Given the description of an element on the screen output the (x, y) to click on. 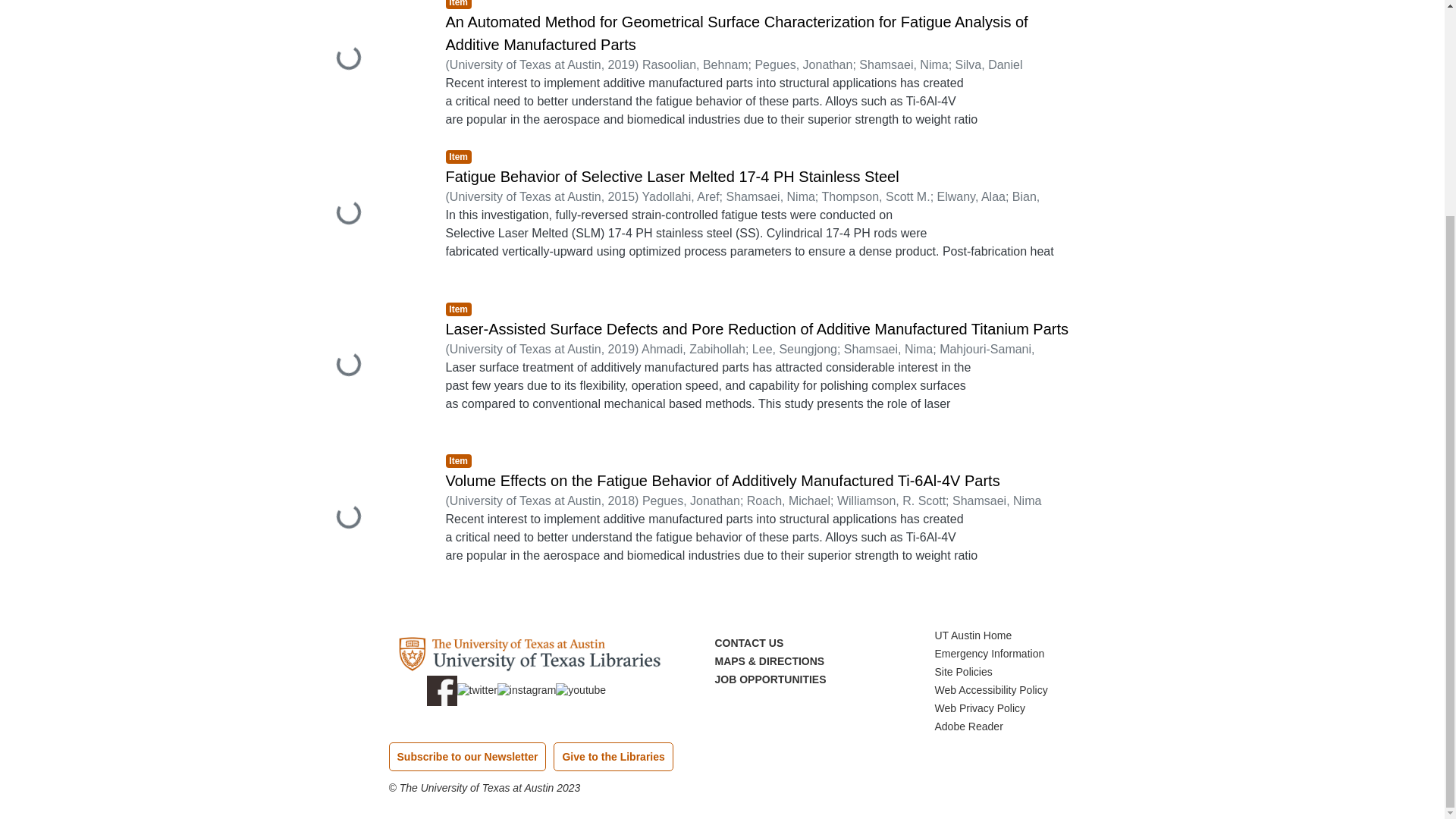
Loading... (362, 214)
Loading... (362, 63)
